Given the description of an element on the screen output the (x, y) to click on. 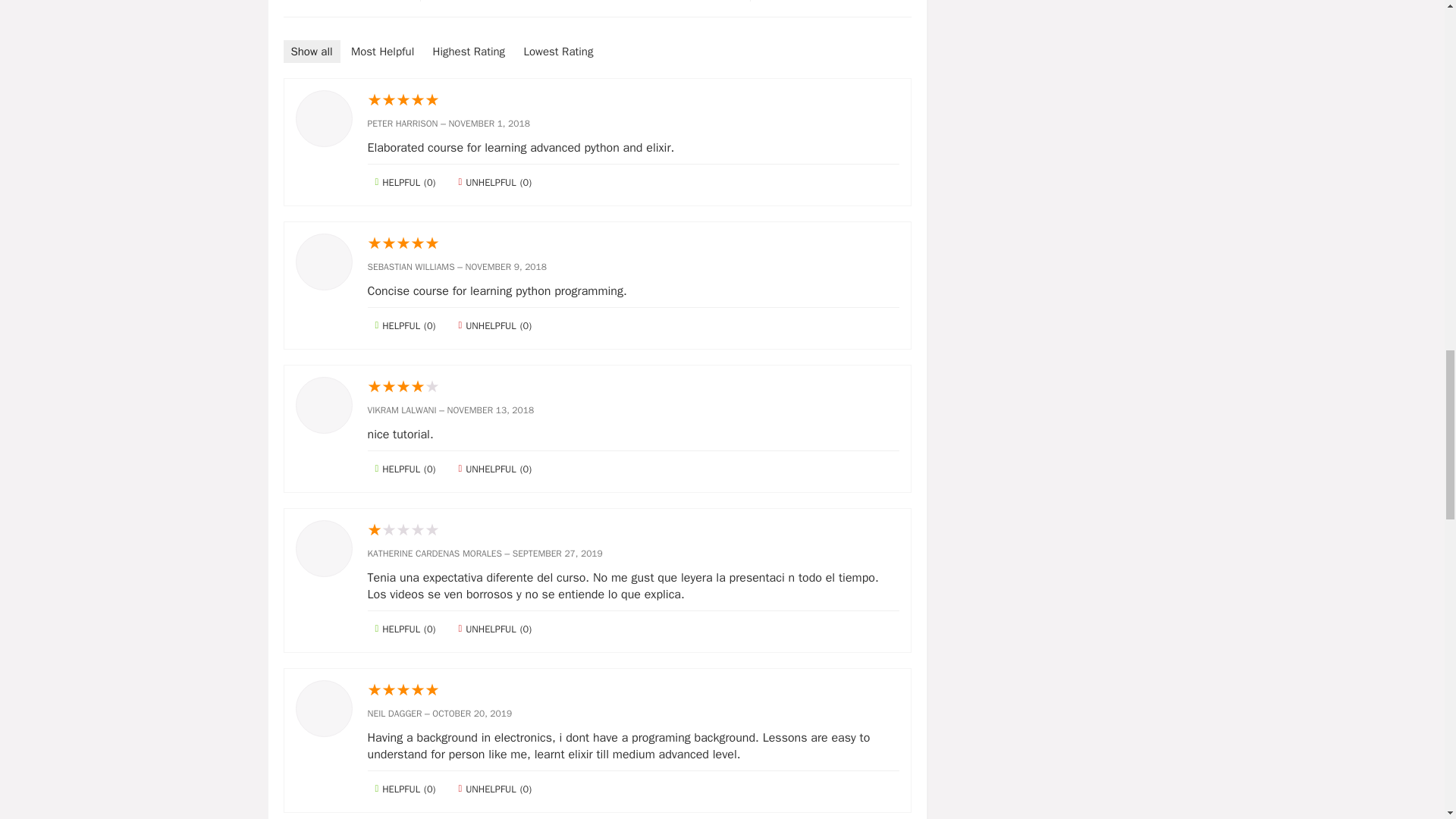
Rated 5 out of 5 (632, 690)
Rated 4 out of 5 (632, 387)
Rated 5 out of 5 (632, 243)
Rated 5 out of 5 (632, 100)
Rated 1 out of 5 (632, 530)
